Given the description of an element on the screen output the (x, y) to click on. 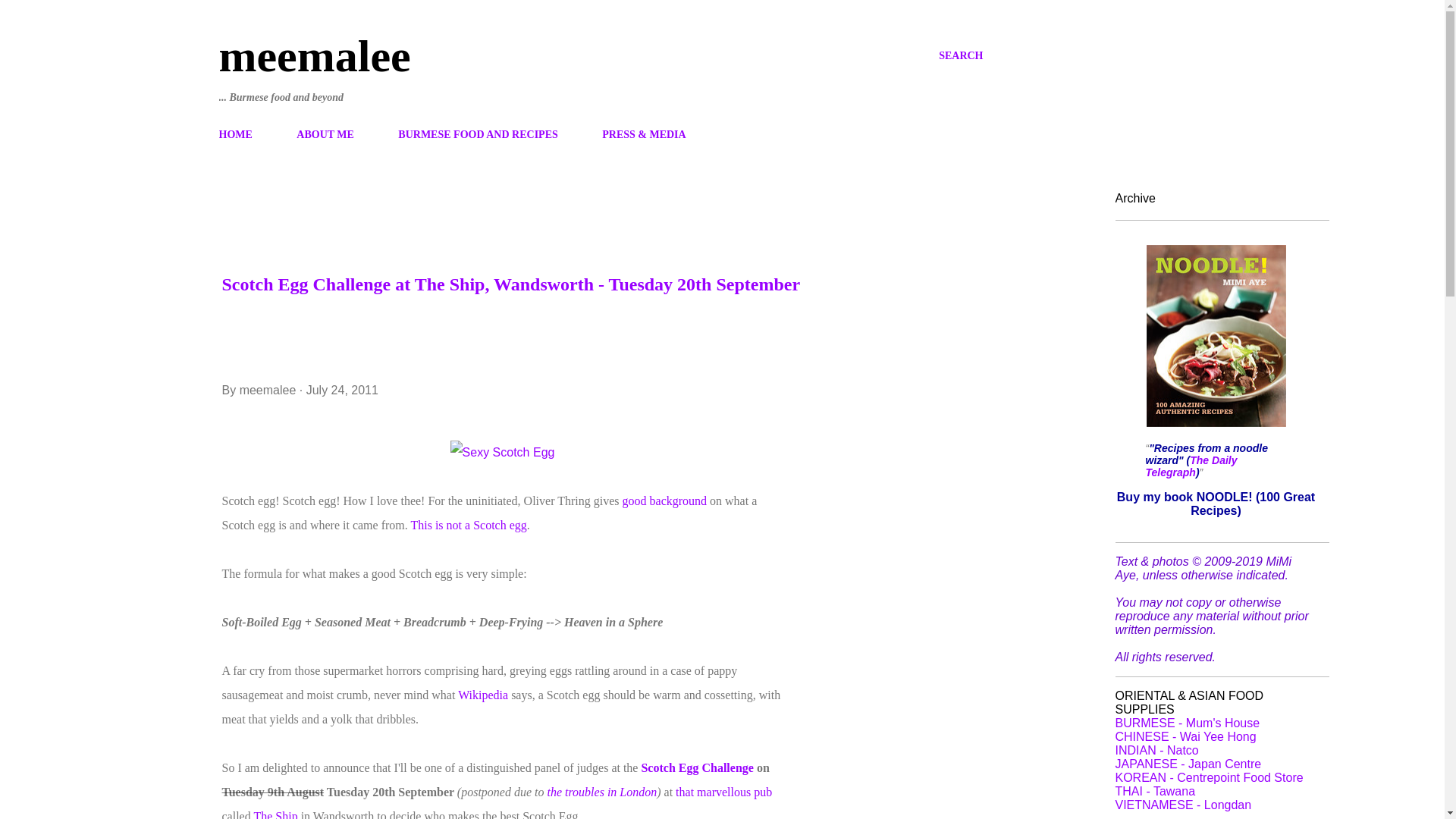
Sexy Scotch Egg by meemalee, on Flickr (501, 451)
that marvellous pub (723, 791)
good background (665, 500)
permanent link (341, 390)
ABOUT ME (324, 134)
meemalee (269, 390)
BURMESE FOOD AND RECIPES (477, 134)
author profile (269, 390)
meemalee (314, 56)
July 24, 2011 (341, 390)
